Given the description of an element on the screen output the (x, y) to click on. 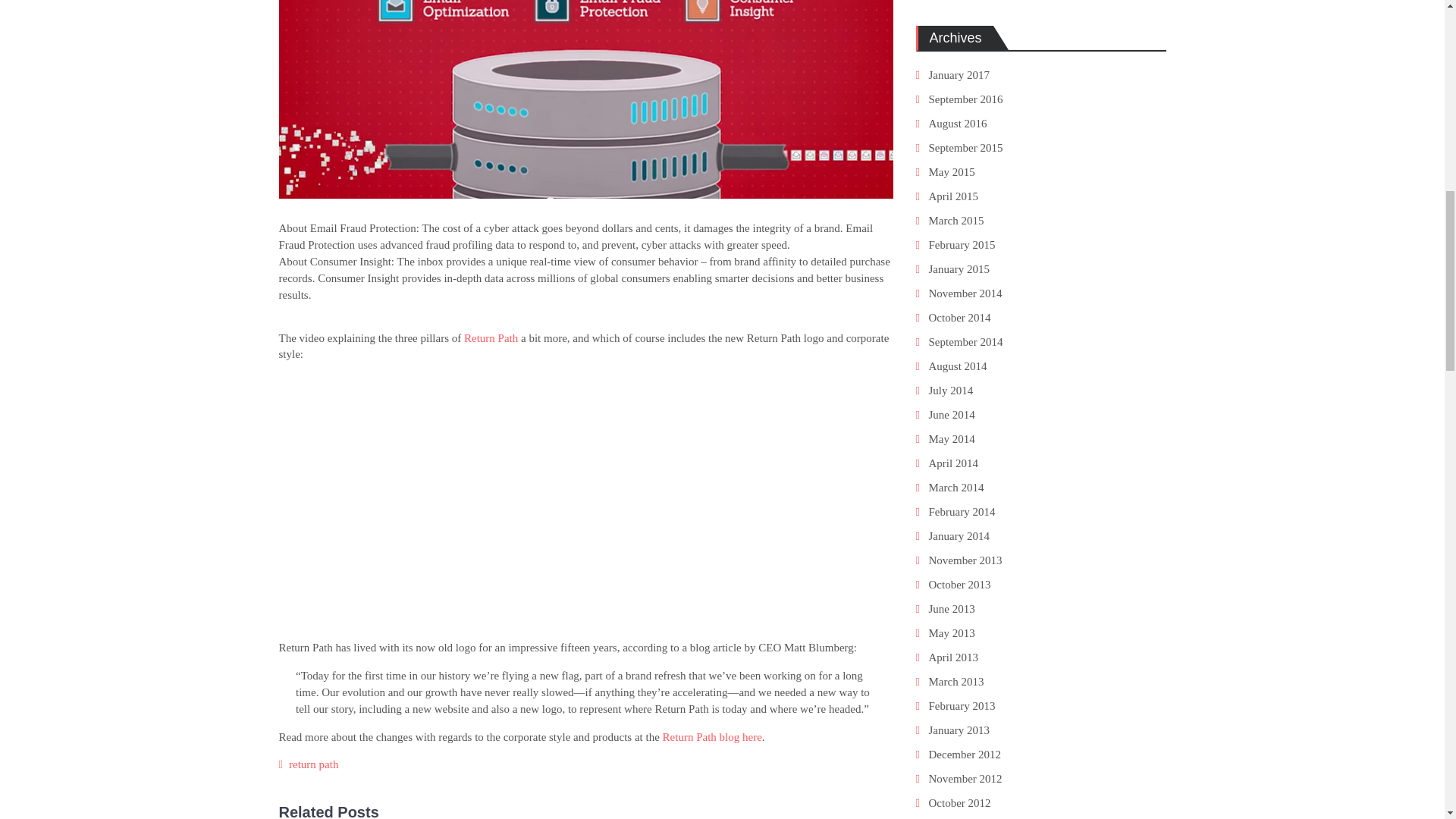
Return Path (491, 337)
return path (312, 764)
Return Path blog here (711, 736)
